Given the description of an element on the screen output the (x, y) to click on. 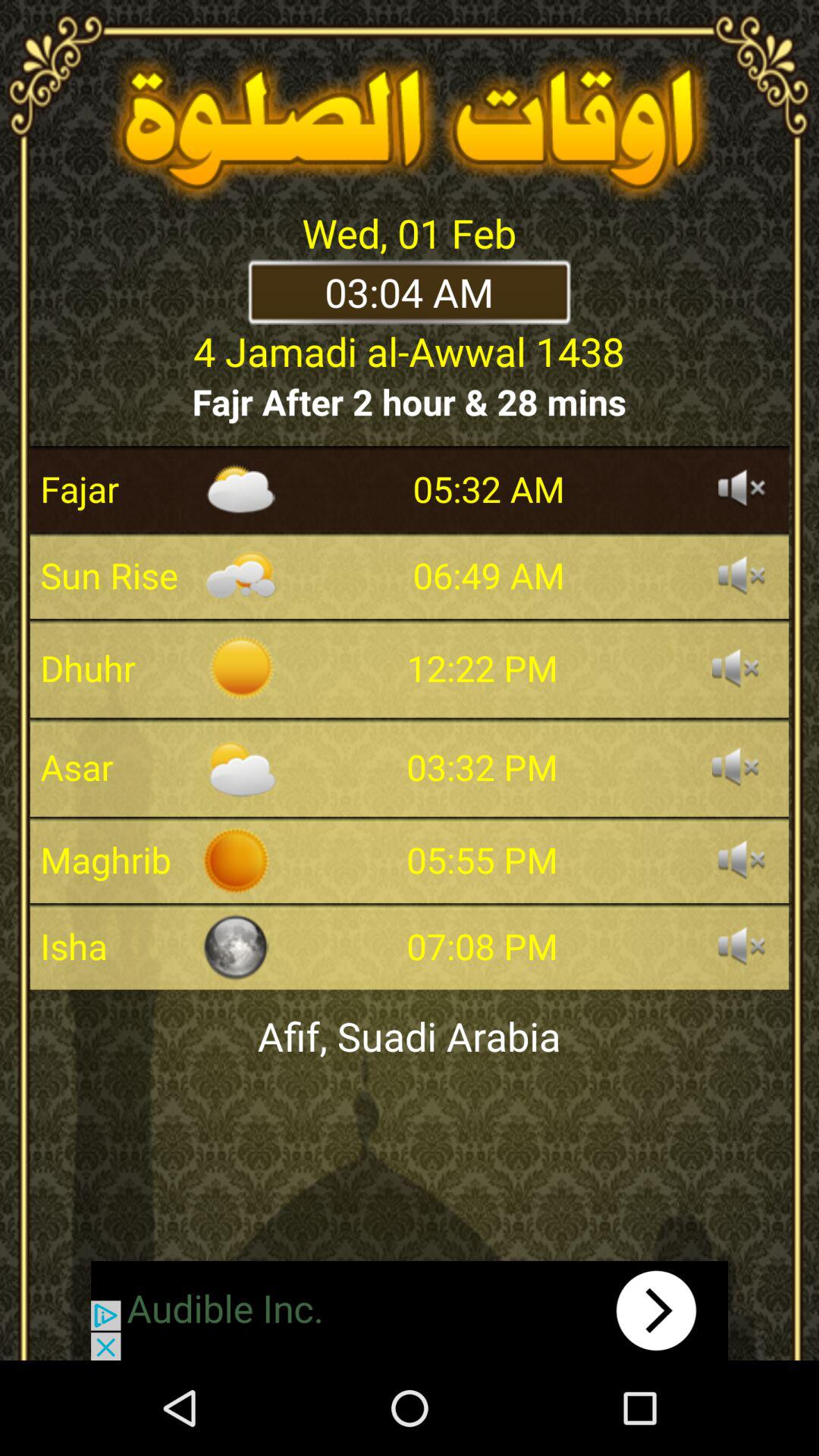
speaker (735, 767)
